Given the description of an element on the screen output the (x, y) to click on. 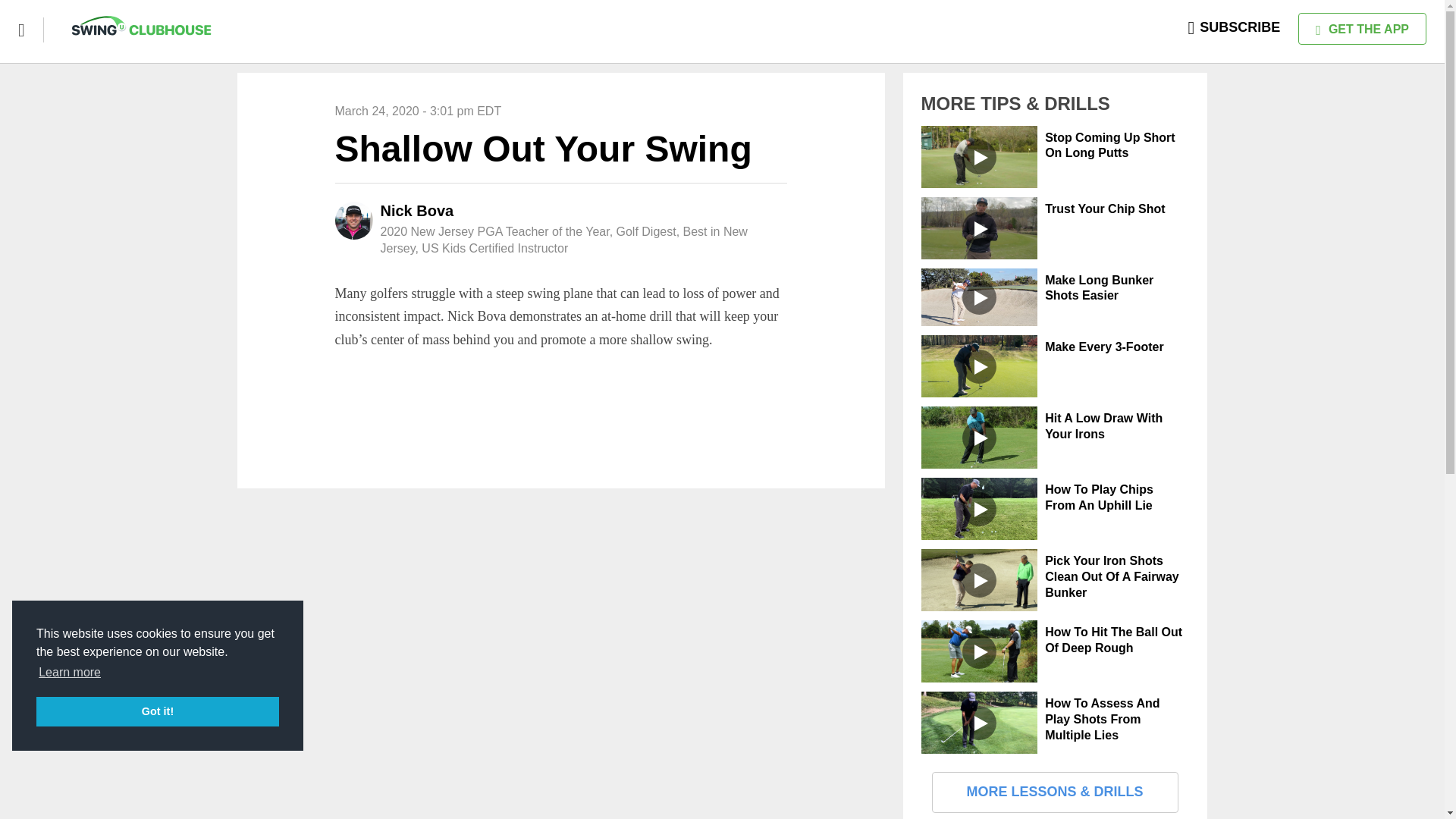
Make Long Bunker Shots Easier (1099, 287)
Nick Bova (417, 210)
Learn more (69, 671)
GET THE APP (1362, 29)
How To Play Chips From An Uphill Lie (1099, 497)
Stop Coming Up Short On Long Putts (1109, 145)
Got it! (157, 711)
SUBSCRIBE (1234, 27)
Make Every 3-Footer (1104, 346)
Trust Your Chip Shot (1105, 208)
